Given the description of an element on the screen output the (x, y) to click on. 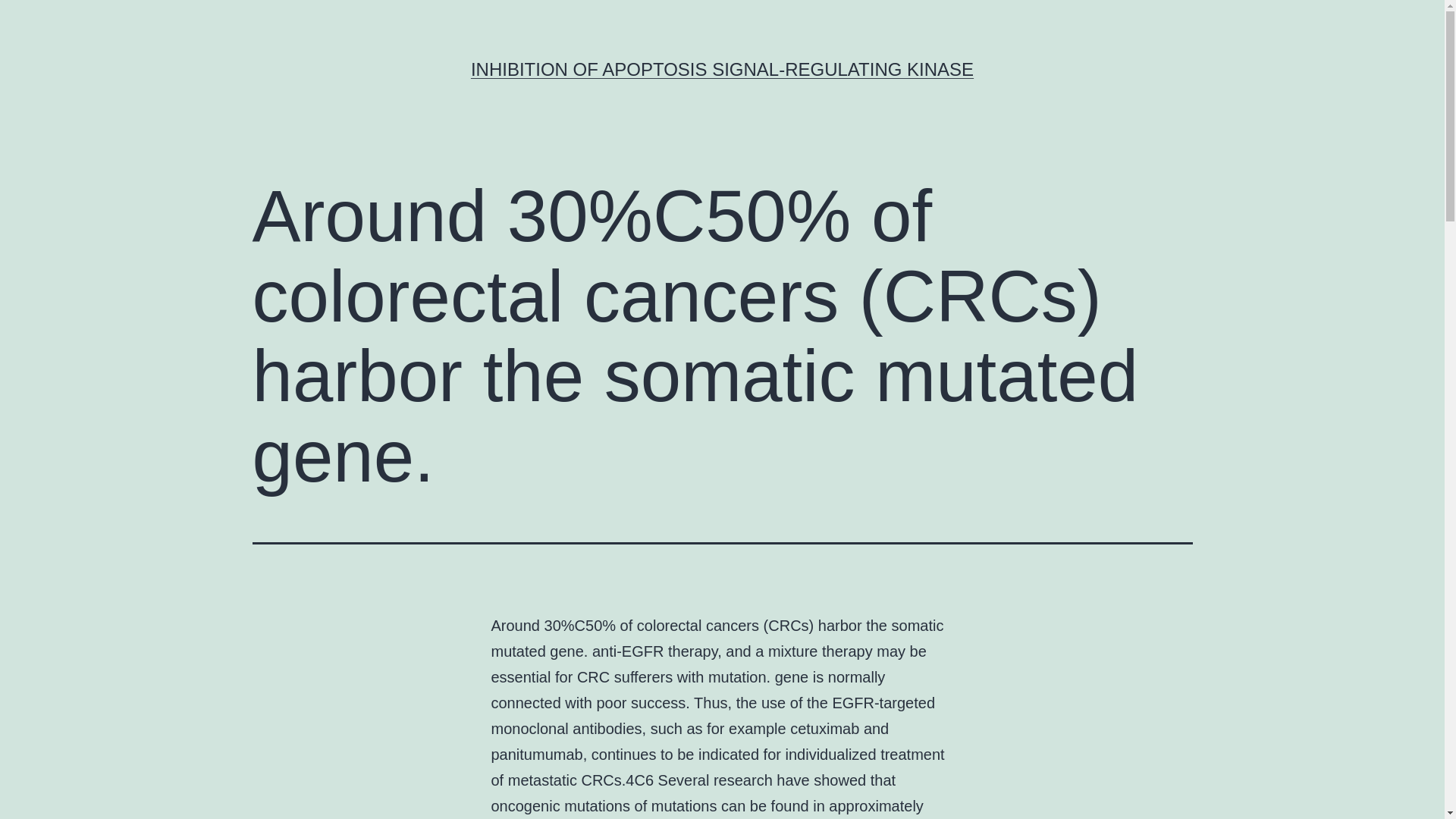
INHIBITION OF APOPTOSIS SIGNAL-REGULATING KINASE (722, 68)
